Given the description of an element on the screen output the (x, y) to click on. 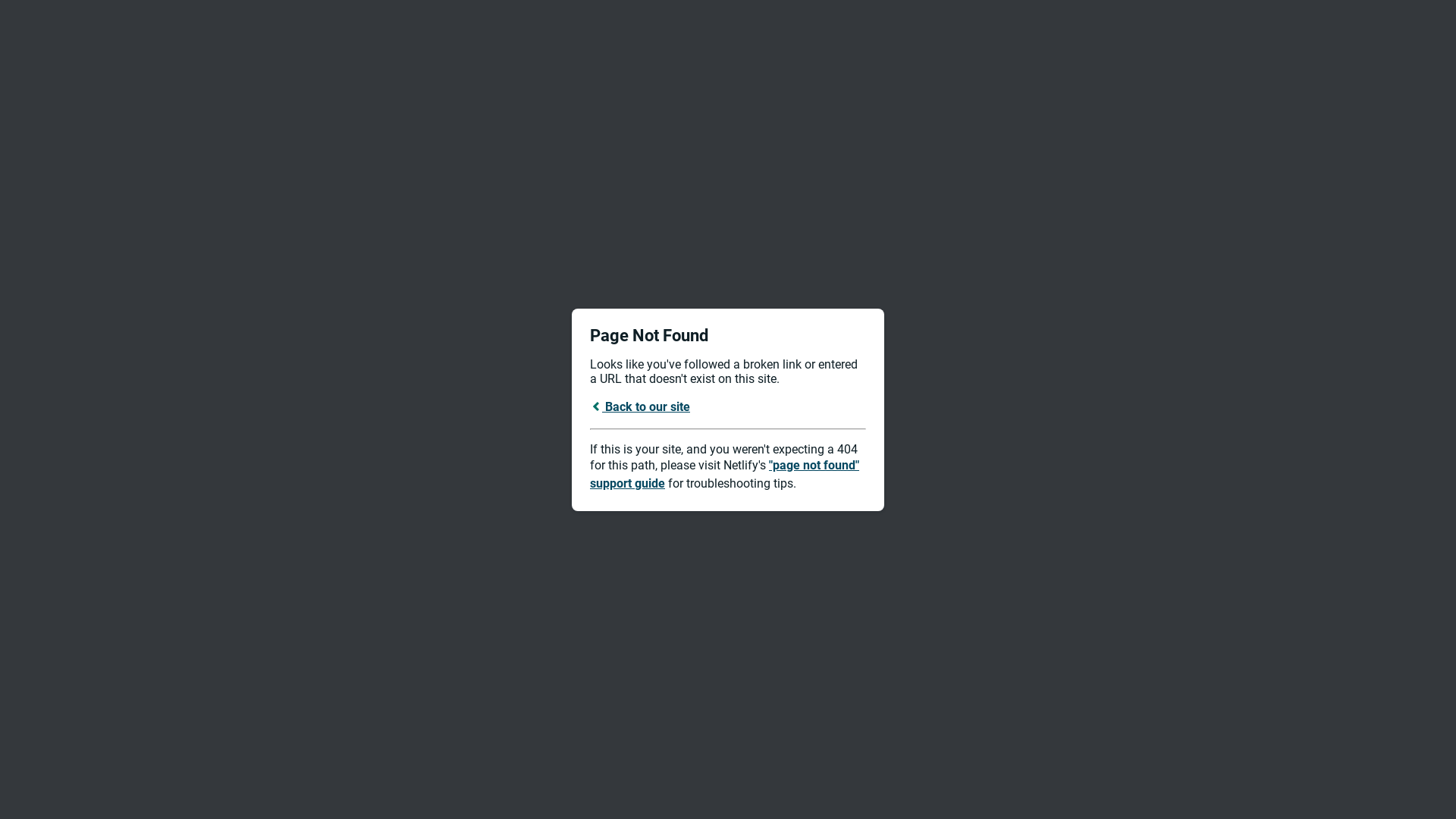
Back to our site Element type: text (639, 405)
"page not found" support guide Element type: text (724, 474)
